Given the description of an element on the screen output the (x, y) to click on. 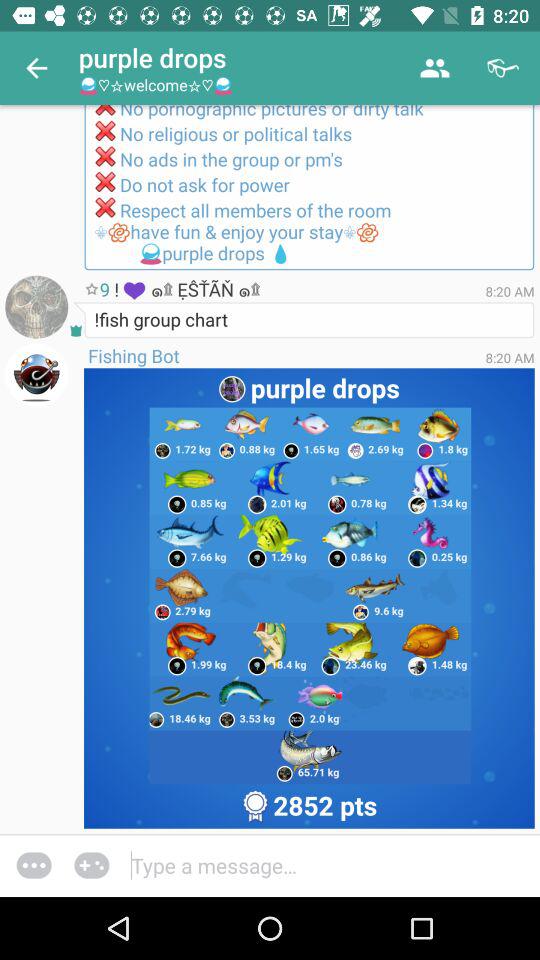
tap the item next to the purple drops (36, 68)
